Given the description of an element on the screen output the (x, y) to click on. 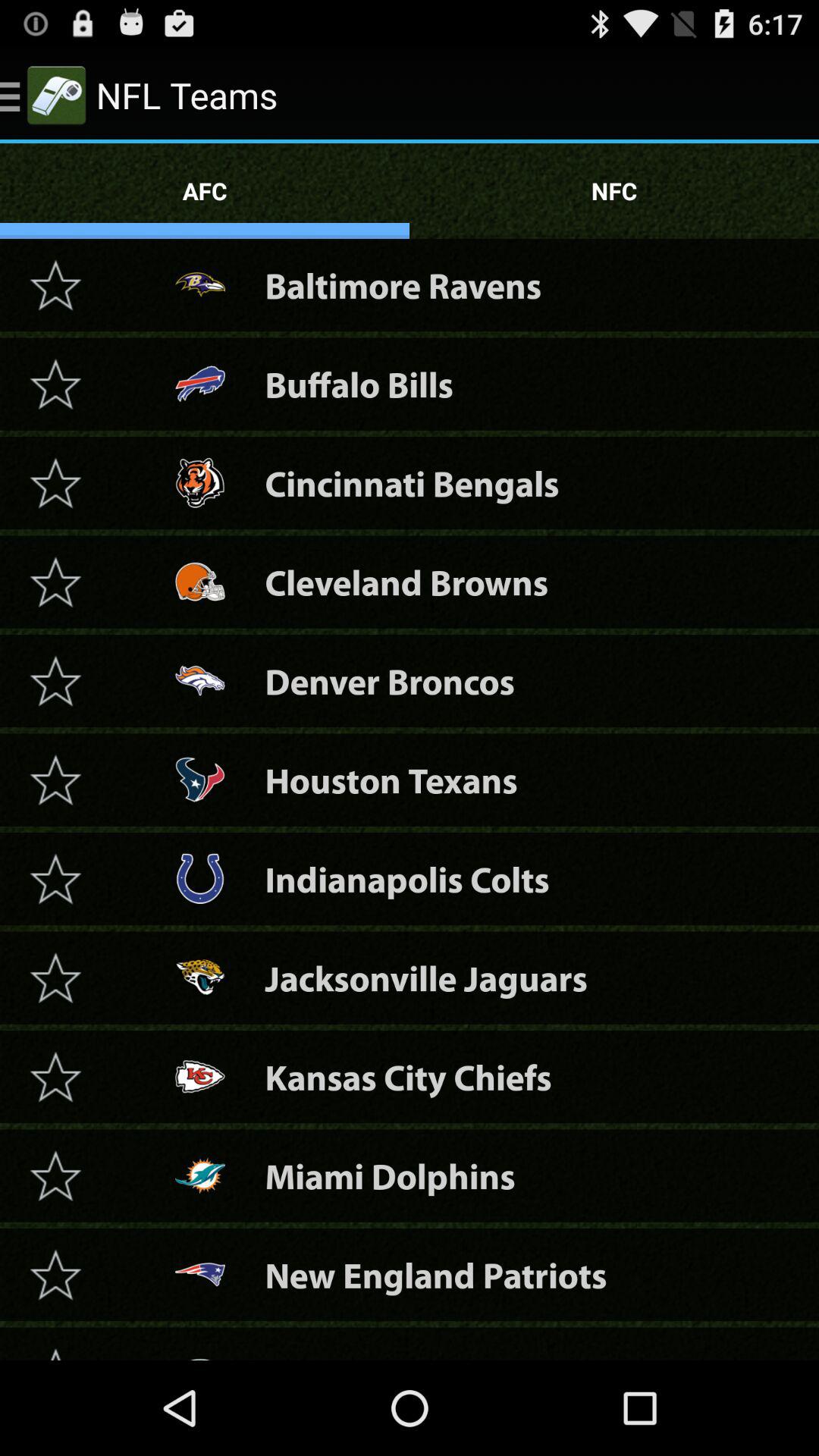
choose jacksonville jaguars (426, 977)
